Given the description of an element on the screen output the (x, y) to click on. 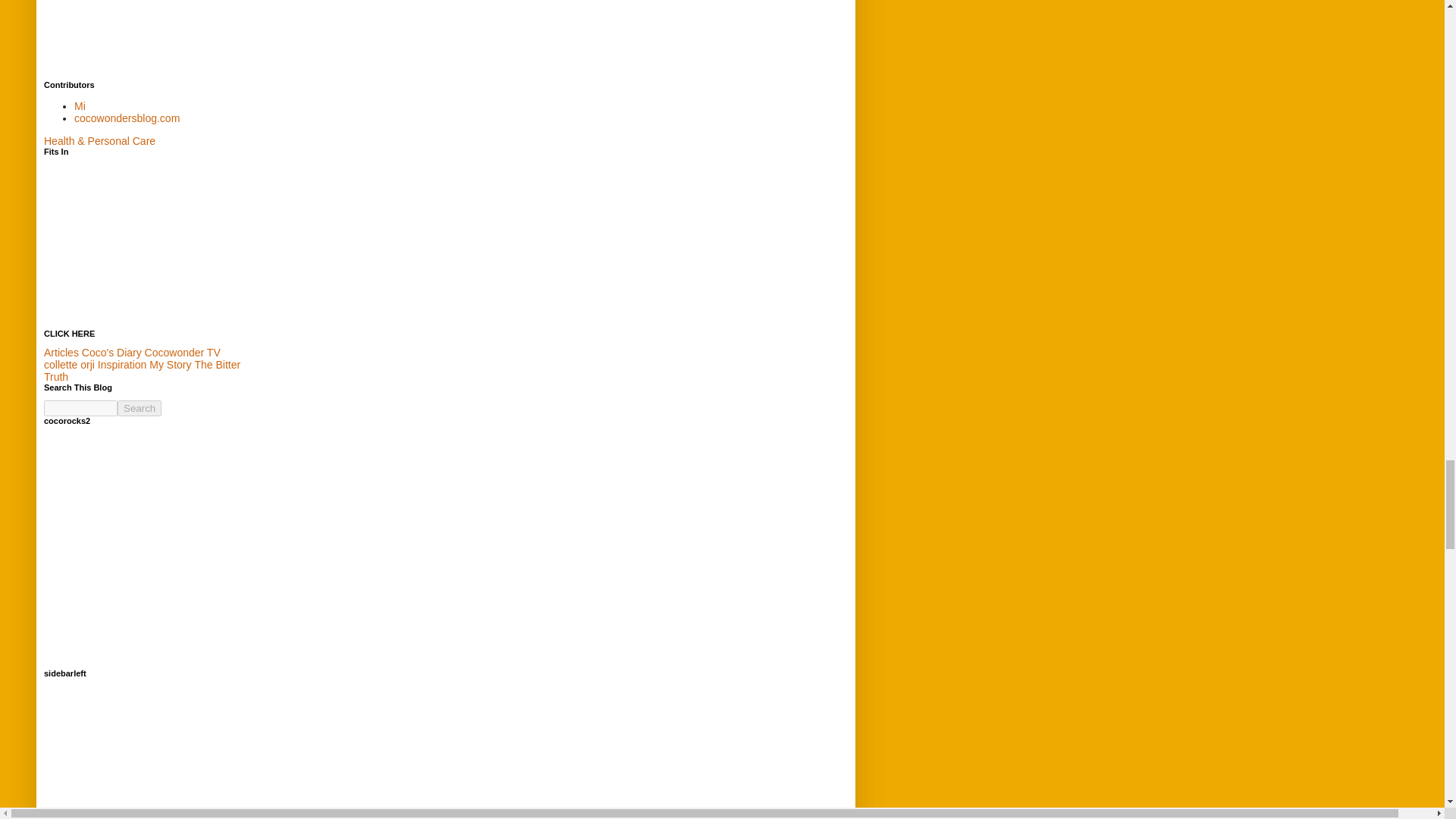
Search (139, 408)
Search (139, 408)
